Given the description of an element on the screen output the (x, y) to click on. 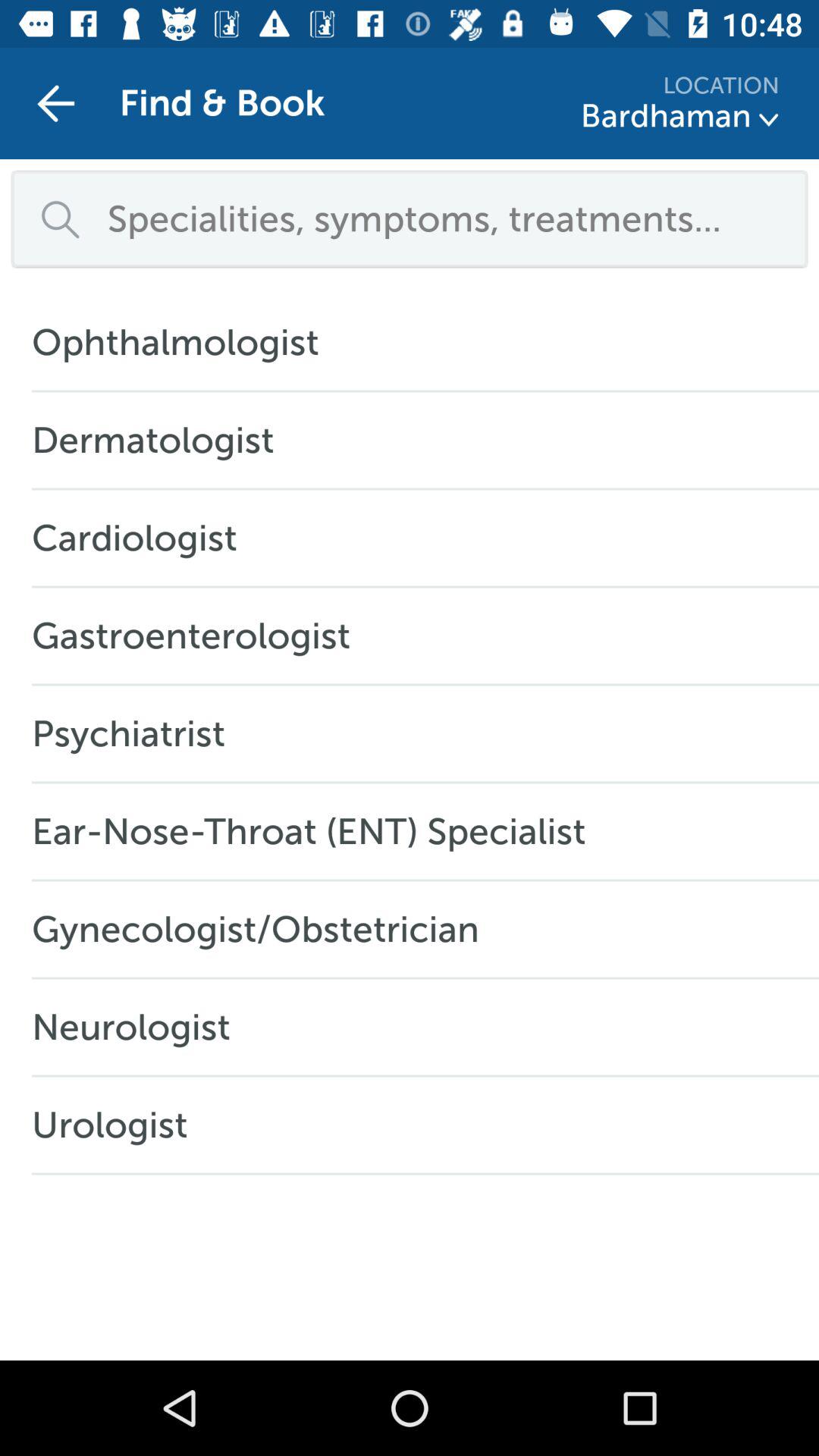
turn on the gynecologist/obstetrician item (263, 928)
